Given the description of an element on the screen output the (x, y) to click on. 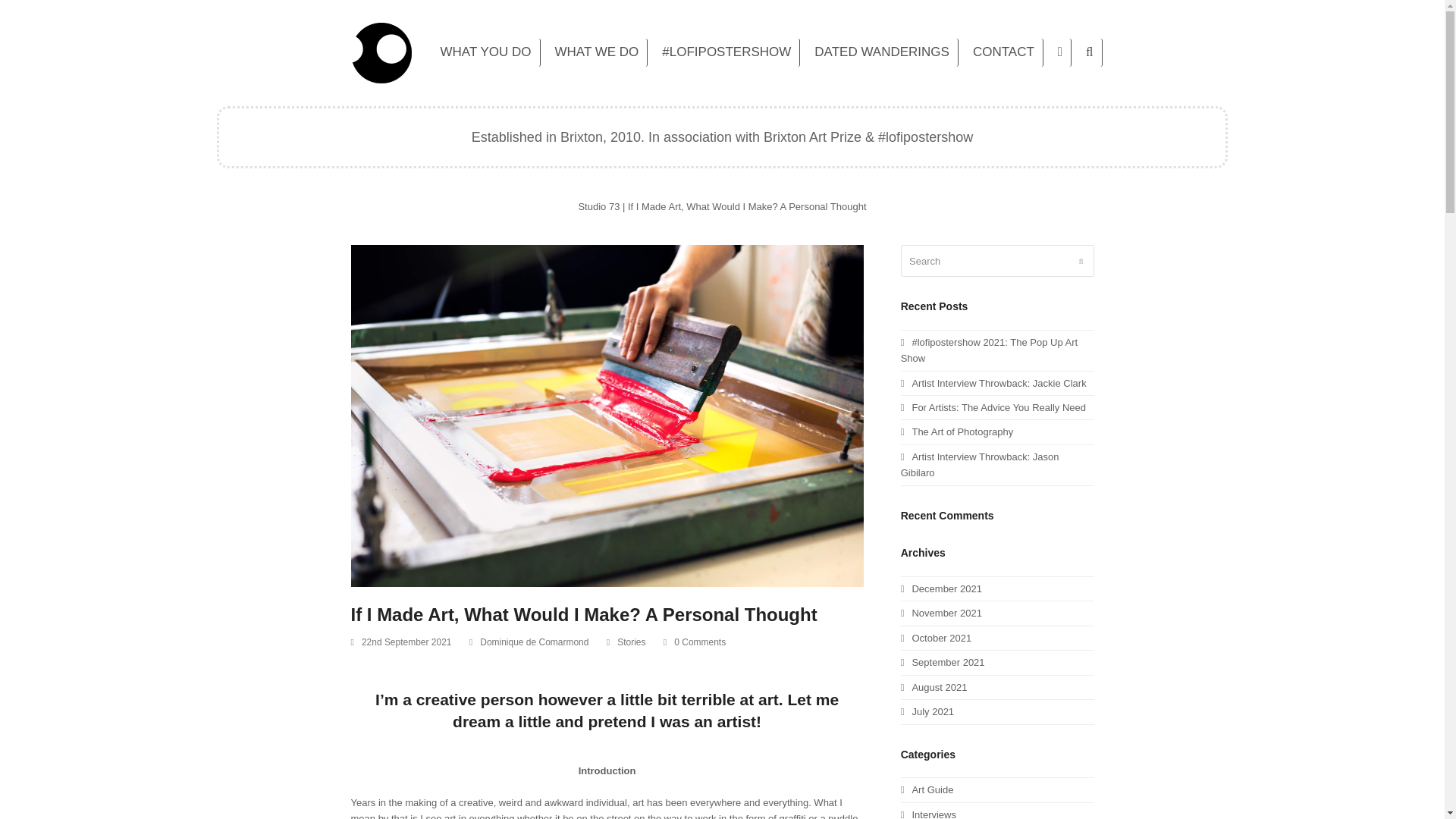
Studio 73 (599, 206)
WHAT YOU DO (486, 53)
The Art of Photography (957, 431)
0 Comments (694, 642)
Artist Interview Throwback: Jason Gibilaro (980, 464)
0 Comments (699, 642)
DATED WANDERINGS (881, 53)
Artist Interview Throwback: Jackie Clark (993, 383)
For Artists: The Advice You Really Need (993, 407)
WHAT WE DO (596, 53)
Dominique de Comarmond (534, 642)
November 2021 (941, 613)
December 2021 (941, 588)
Stories (631, 642)
CONTACT (1003, 53)
